Given the description of an element on the screen output the (x, y) to click on. 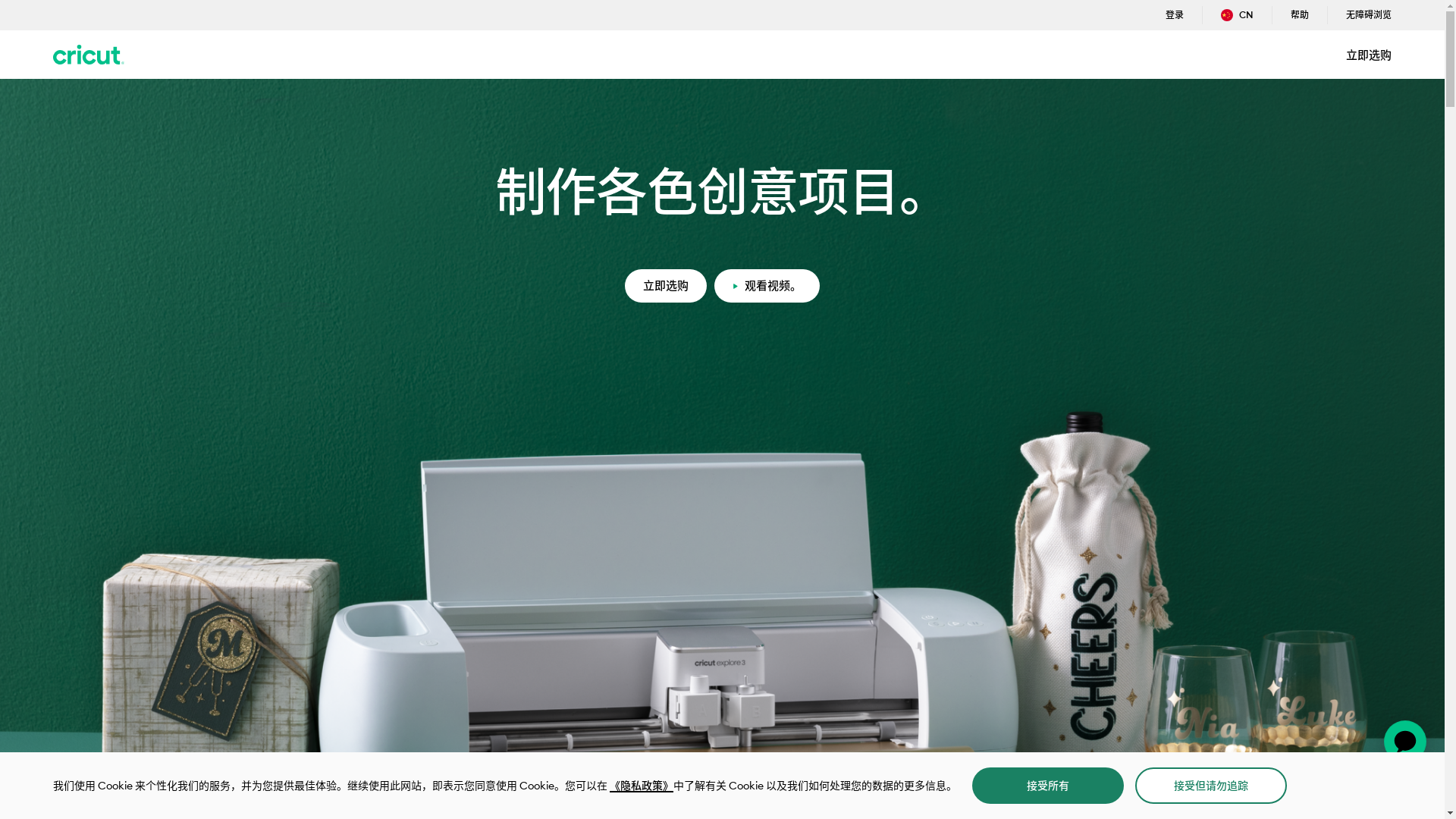
Cricut Chat Button Frame Element type: hover (1404, 741)
Cricut Shop Element type: hover (88, 54)
CN Element type: text (1236, 15)
